Given the description of an element on the screen output the (x, y) to click on. 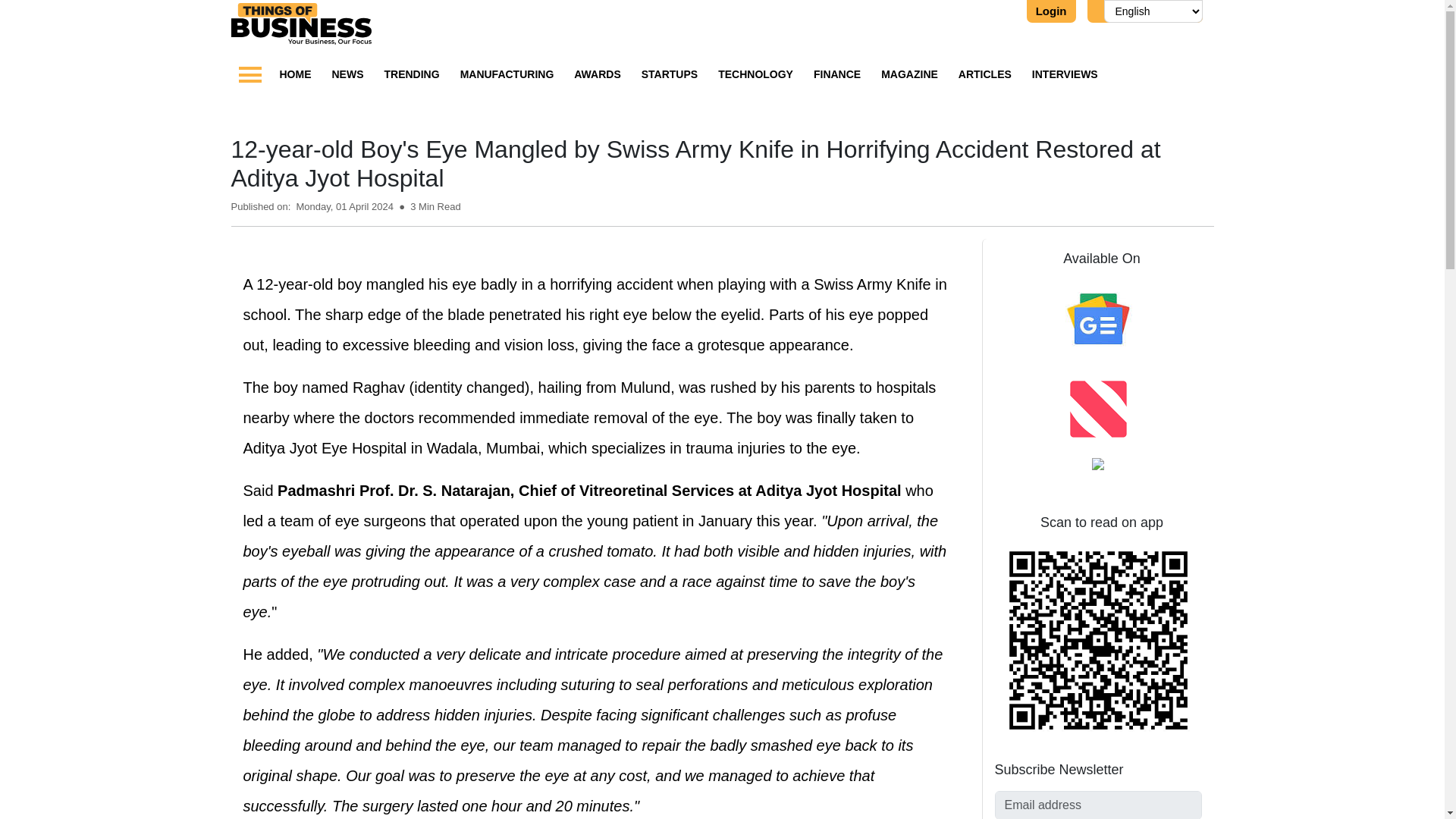
Google News (1097, 318)
Main Menu (249, 74)
STARTUPS (669, 74)
MAGAZINE (908, 74)
MANUFACTURING (507, 74)
TRENDING (411, 74)
Login (1051, 11)
TECHNOLOGY (755, 74)
HOME (295, 74)
NEWS (347, 74)
AWARDS (596, 74)
ARTICLES (984, 74)
FINANCE (836, 74)
INTERVIEWS (1064, 74)
Apple News (1097, 408)
